Given the description of an element on the screen output the (x, y) to click on. 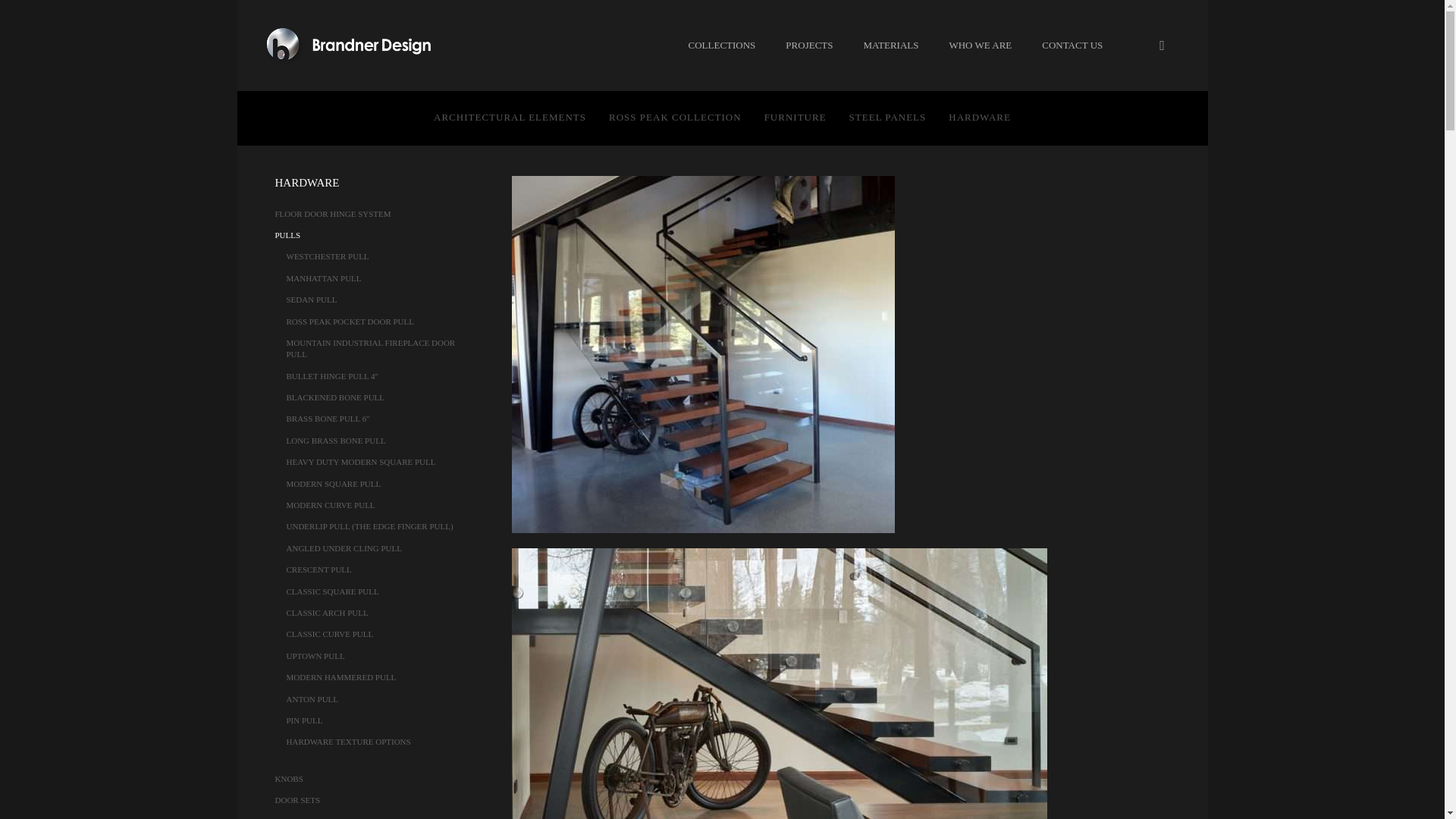
CONTACT US (1072, 45)
MATERIALS (890, 45)
WHO WE ARE (979, 45)
COLLECTIONS (721, 45)
PROJECTS (808, 45)
